Given the description of an element on the screen output the (x, y) to click on. 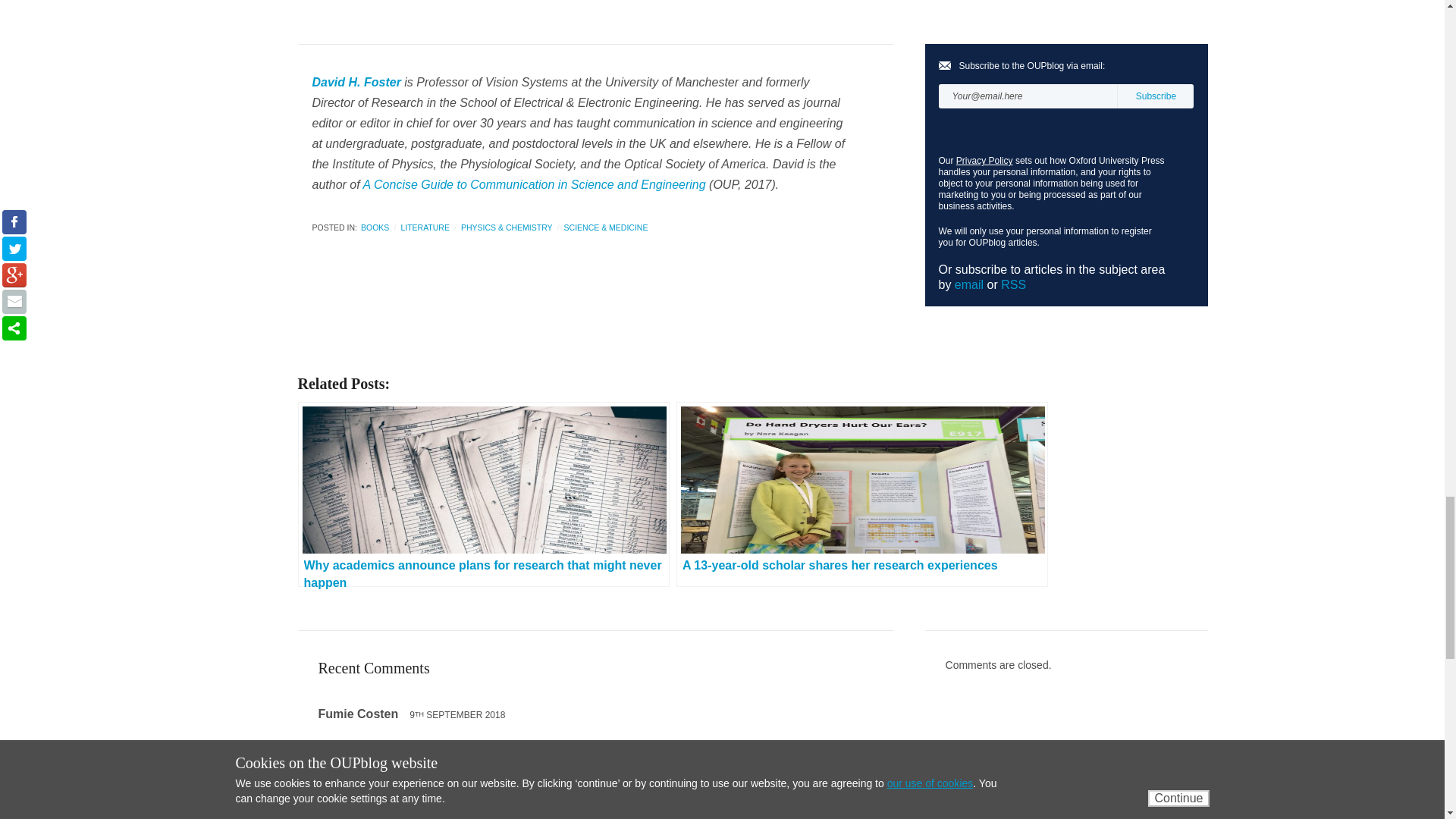
A 13-year-old scholar shares her research experiences (862, 494)
Subscribe (1154, 96)
